Given the description of an element on the screen output the (x, y) to click on. 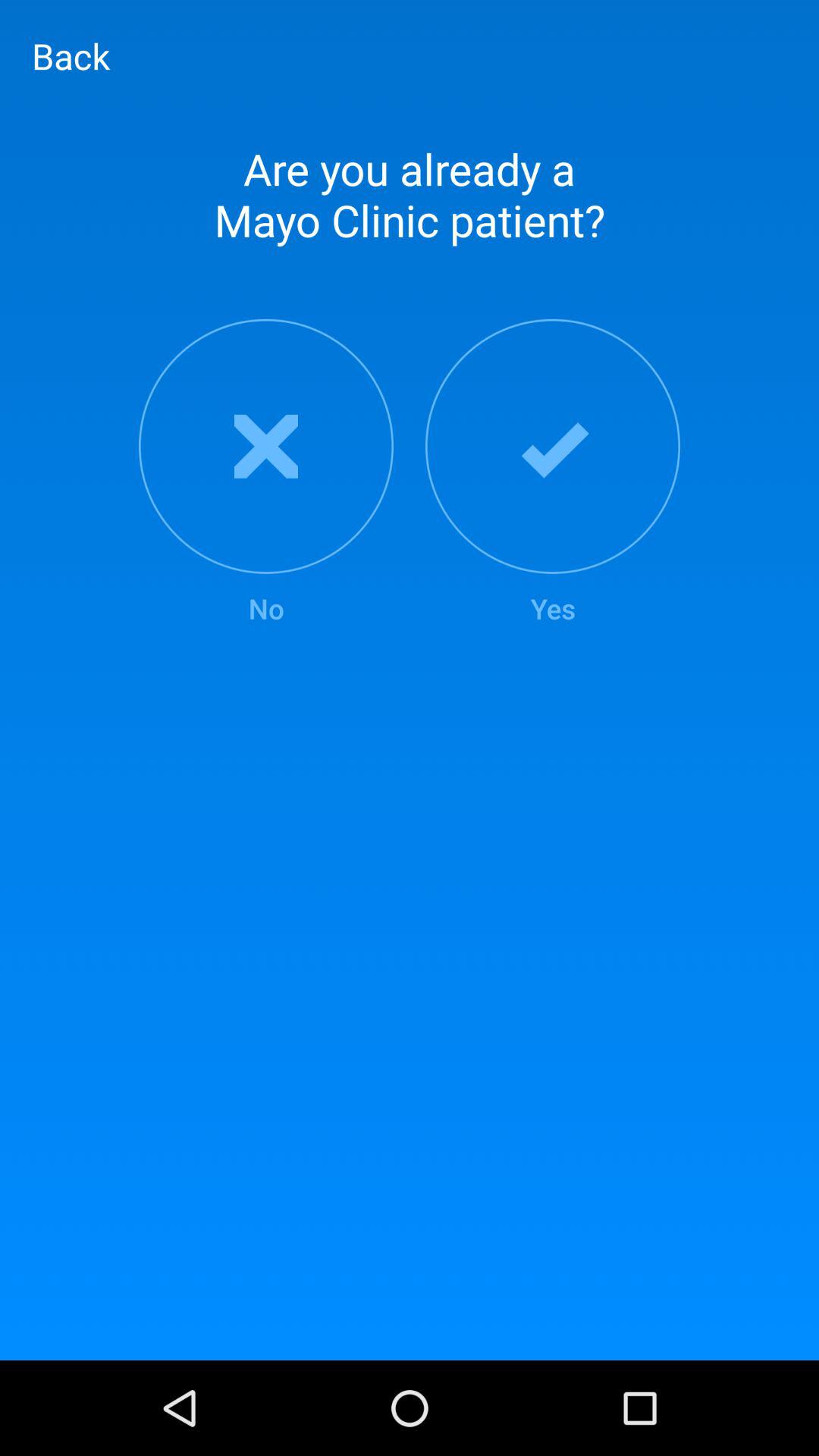
jump until the no (265, 473)
